Given the description of an element on the screen output the (x, y) to click on. 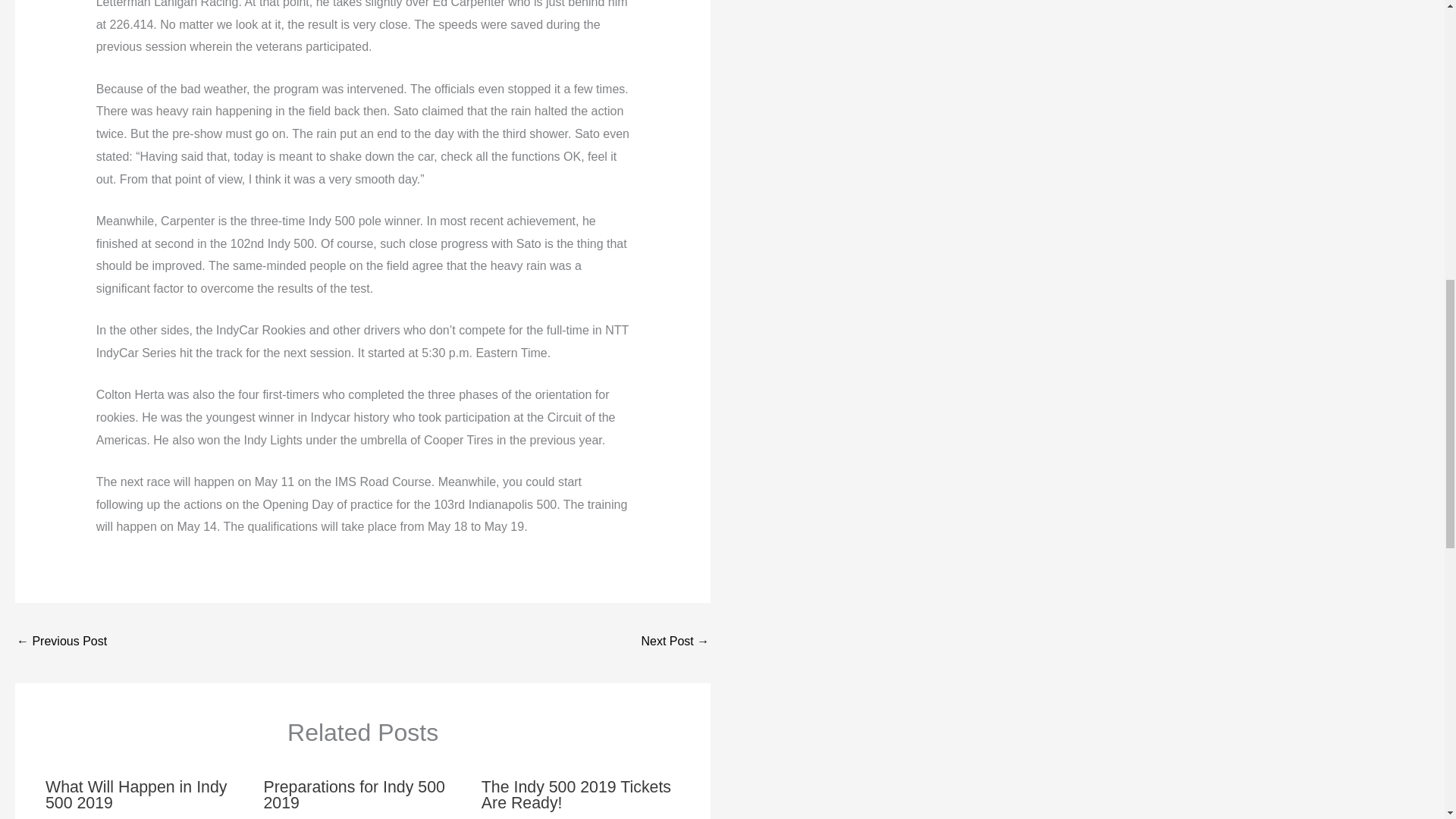
What Will Happen in Indy 500 2019 (136, 795)
Danica Patrick Makes Comeback in Indianapolis 500 2019 (61, 642)
Preparations for Indy 500 2019 (354, 795)
The Indy 500 2019 Tickets Are Ready! (576, 795)
